Given the description of an element on the screen output the (x, y) to click on. 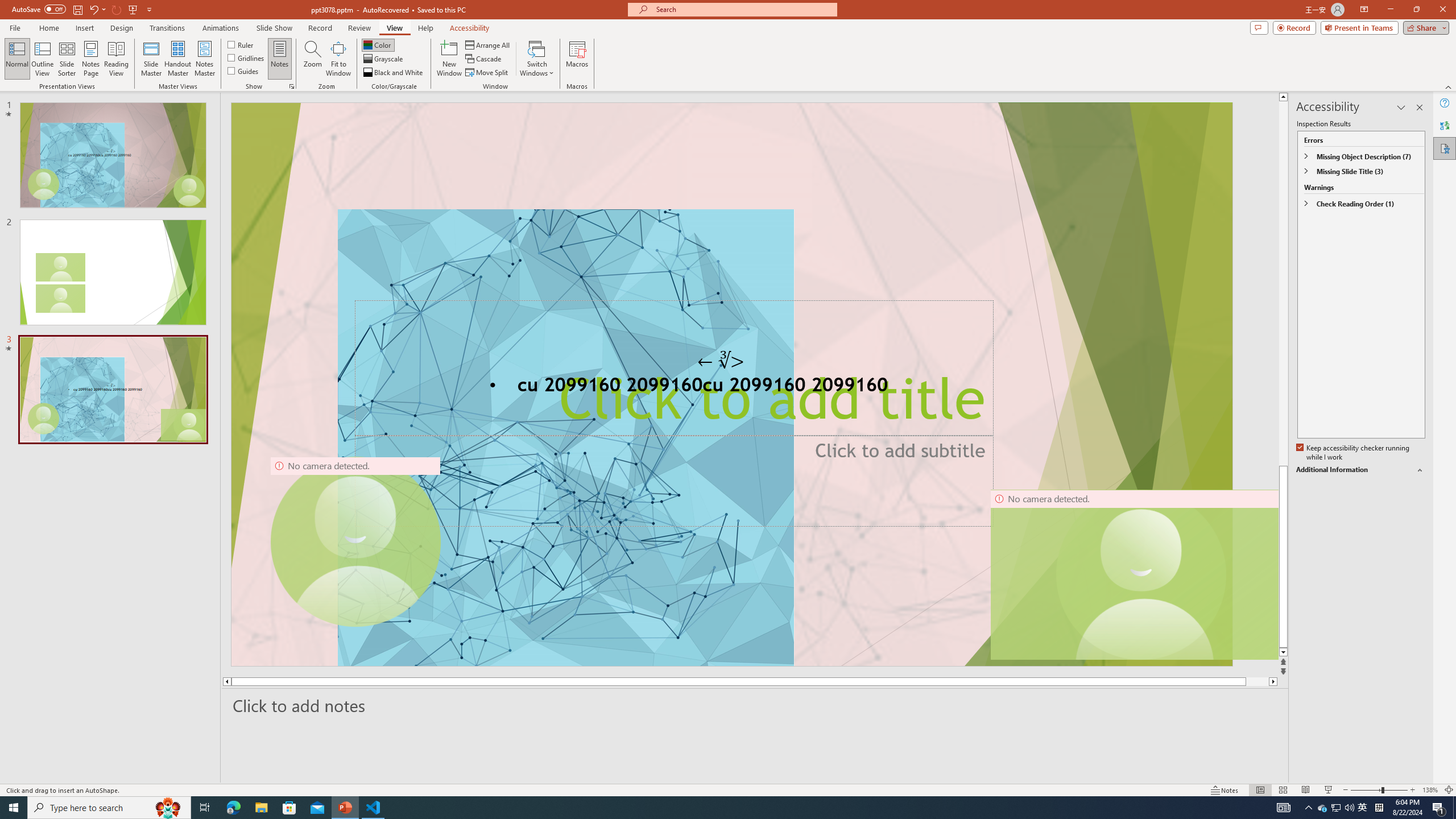
Class: MsoCommandBar (728, 789)
Subtitle TextBox (673, 480)
Insert (83, 28)
An abstract genetic concept (731, 384)
Fit to Window (338, 58)
Normal (1260, 790)
Notes Page (90, 58)
Design (122, 28)
Customize Quick Access Toolbar (149, 9)
Grayscale (383, 58)
Macros (576, 58)
Black and White (393, 72)
